Given the description of an element on the screen output the (x, y) to click on. 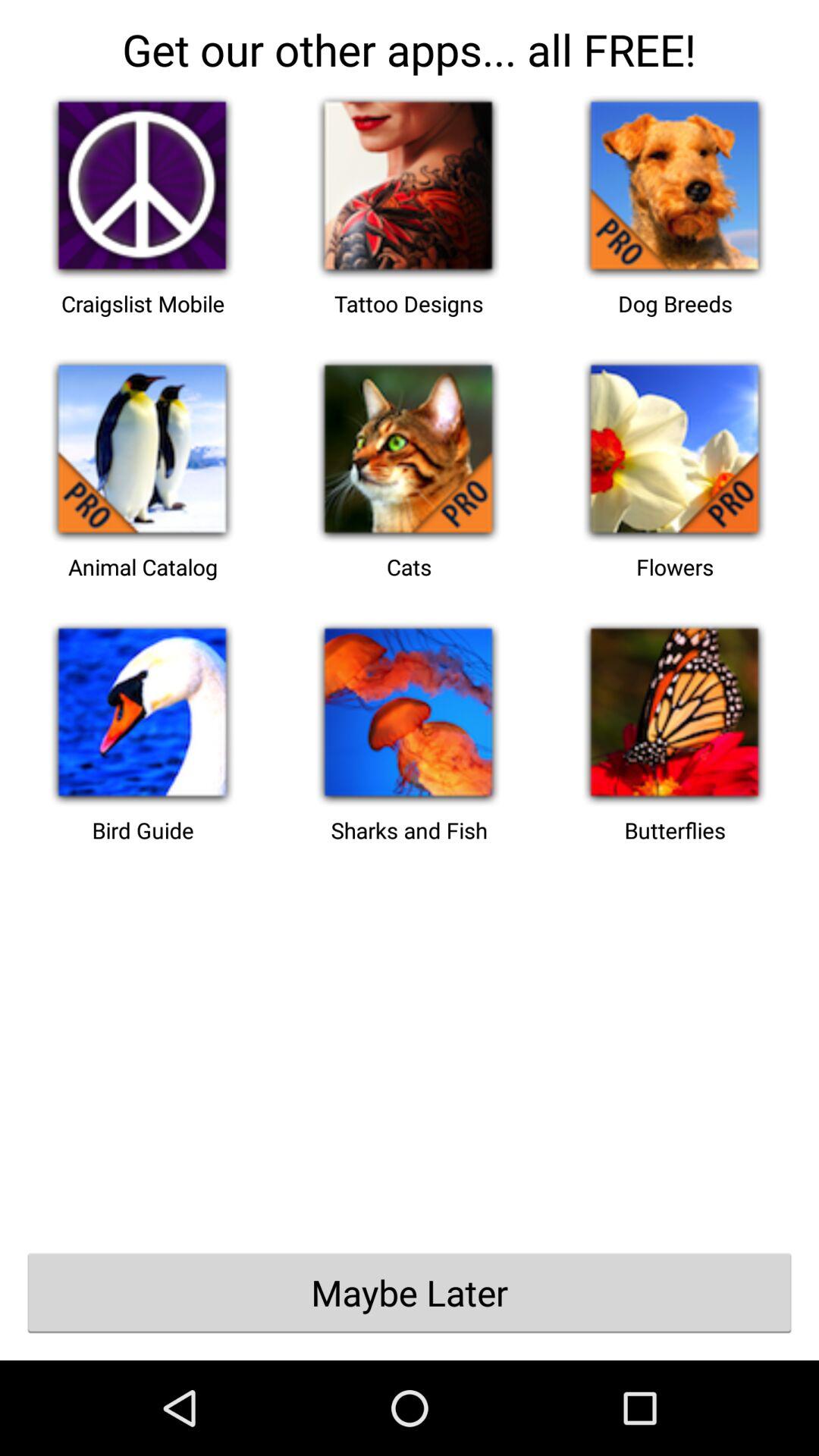
tap the button at the bottom (409, 1292)
